Given the description of an element on the screen output the (x, y) to click on. 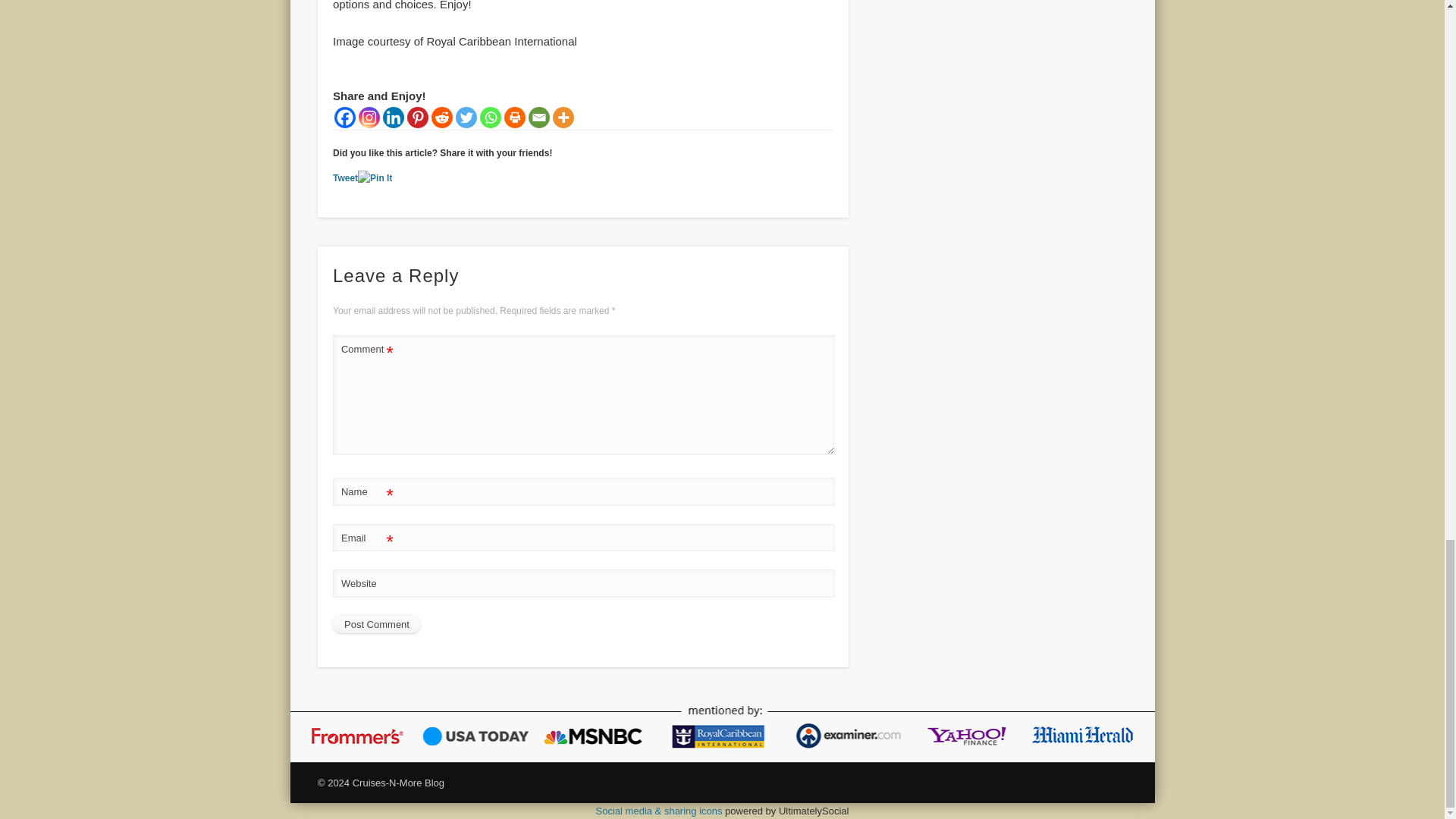
Facebook (344, 117)
Instagram (369, 117)
Tweet (345, 177)
Post Comment (376, 624)
